Given the description of an element on the screen output the (x, y) to click on. 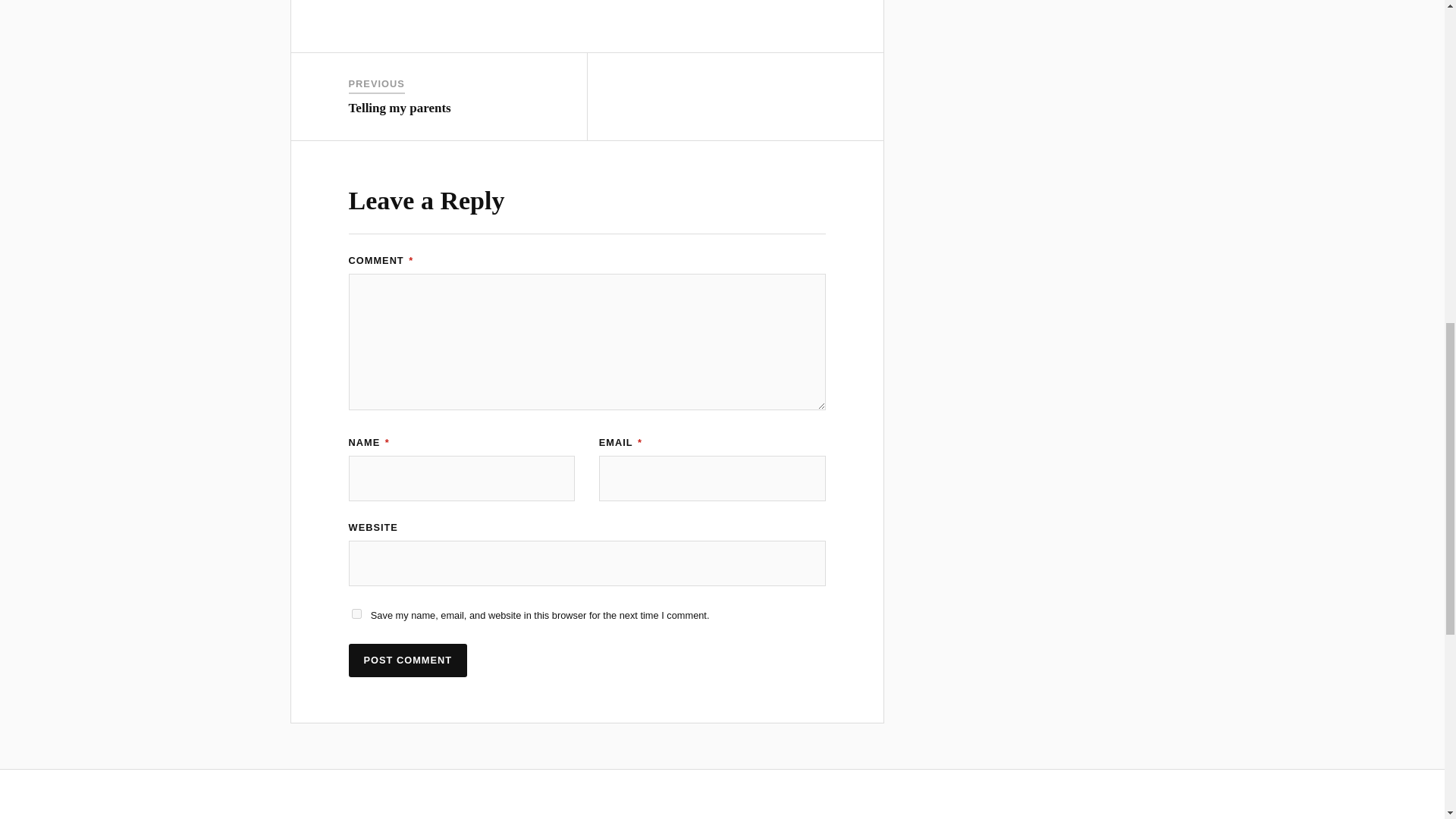
yes (356, 614)
Post Comment (408, 659)
Telling my parents (400, 107)
Post Comment (408, 659)
